Given the description of an element on the screen output the (x, y) to click on. 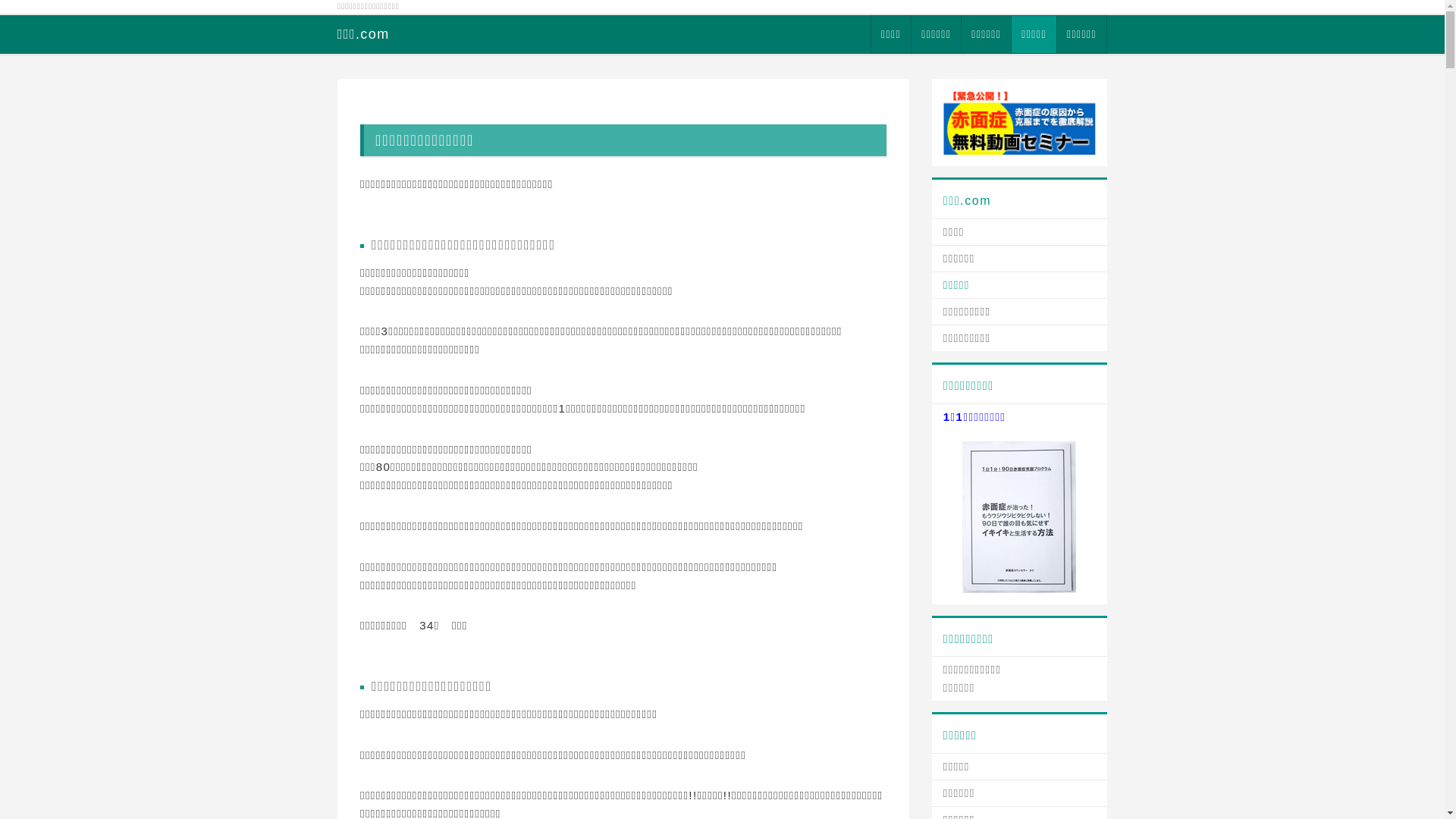
dougakouza Element type: hover (1019, 121)
